Given the description of an element on the screen output the (x, y) to click on. 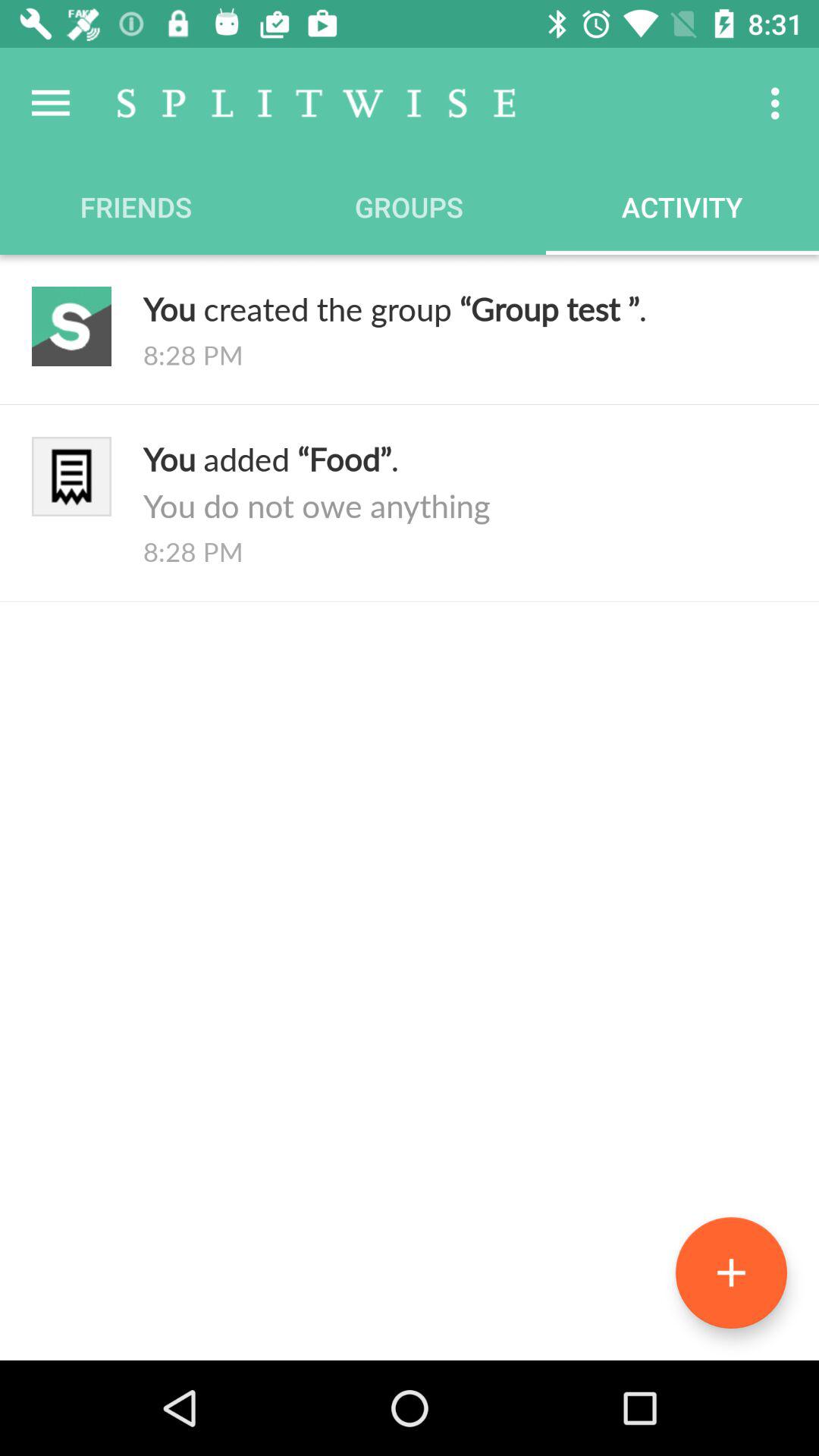
turn off icon below the 8:28 pm (465, 481)
